Given the description of an element on the screen output the (x, y) to click on. 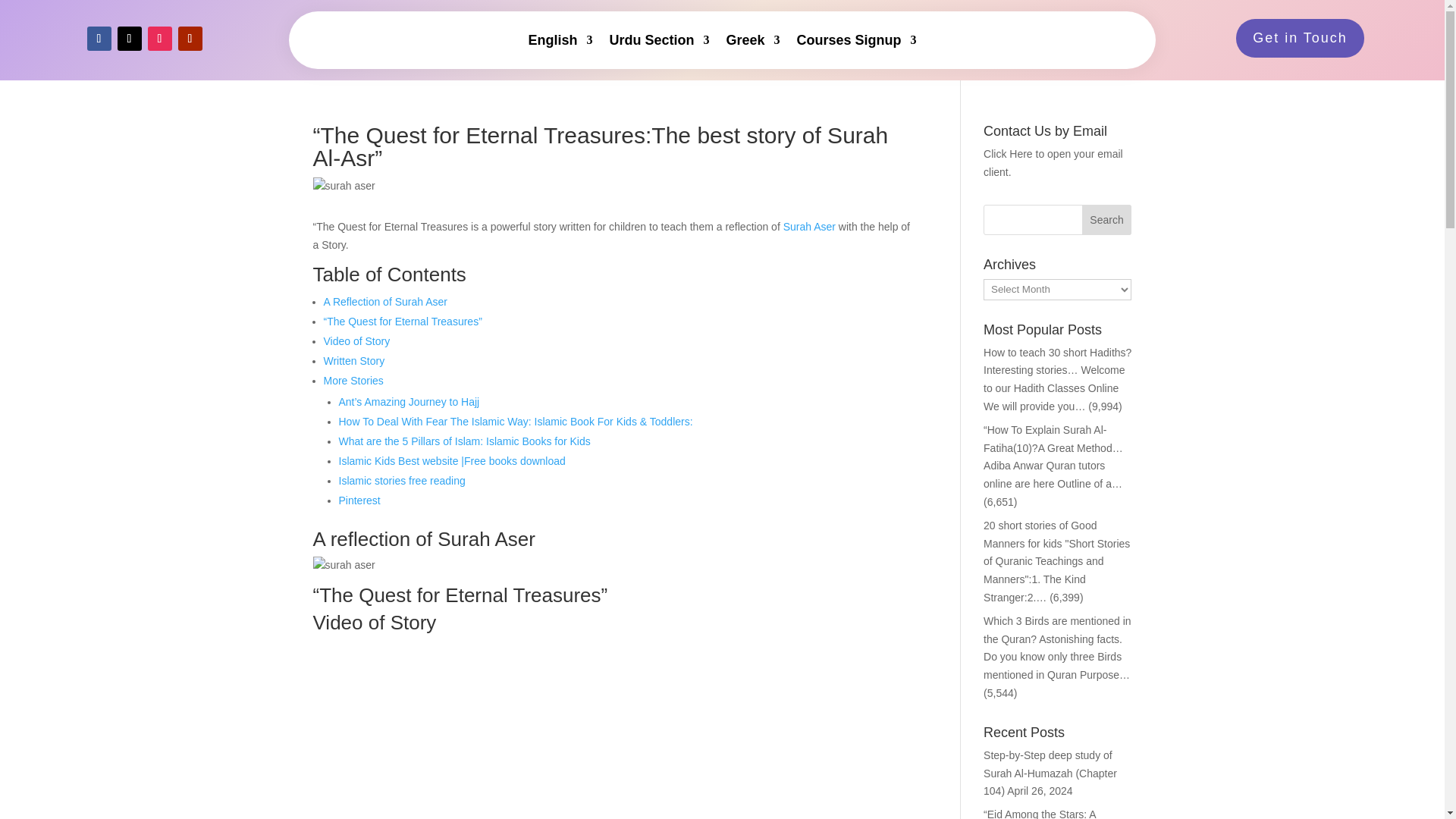
Get in Touch (1300, 37)
A Reflection of Surah Aser (384, 301)
Courses Signup (856, 39)
Greek (751, 39)
What are the 5 Pillars of Islam: Islamic Books for Kids (463, 440)
Surah Aser (809, 226)
Pinterest (358, 500)
Islamic stories free reading (400, 480)
More Stories (352, 380)
Urdu Section (658, 39)
Follow on Facebook (97, 38)
Follow on Instagram (159, 38)
Follow on X (128, 38)
Follow on Youtube (189, 38)
